Given the description of an element on the screen output the (x, y) to click on. 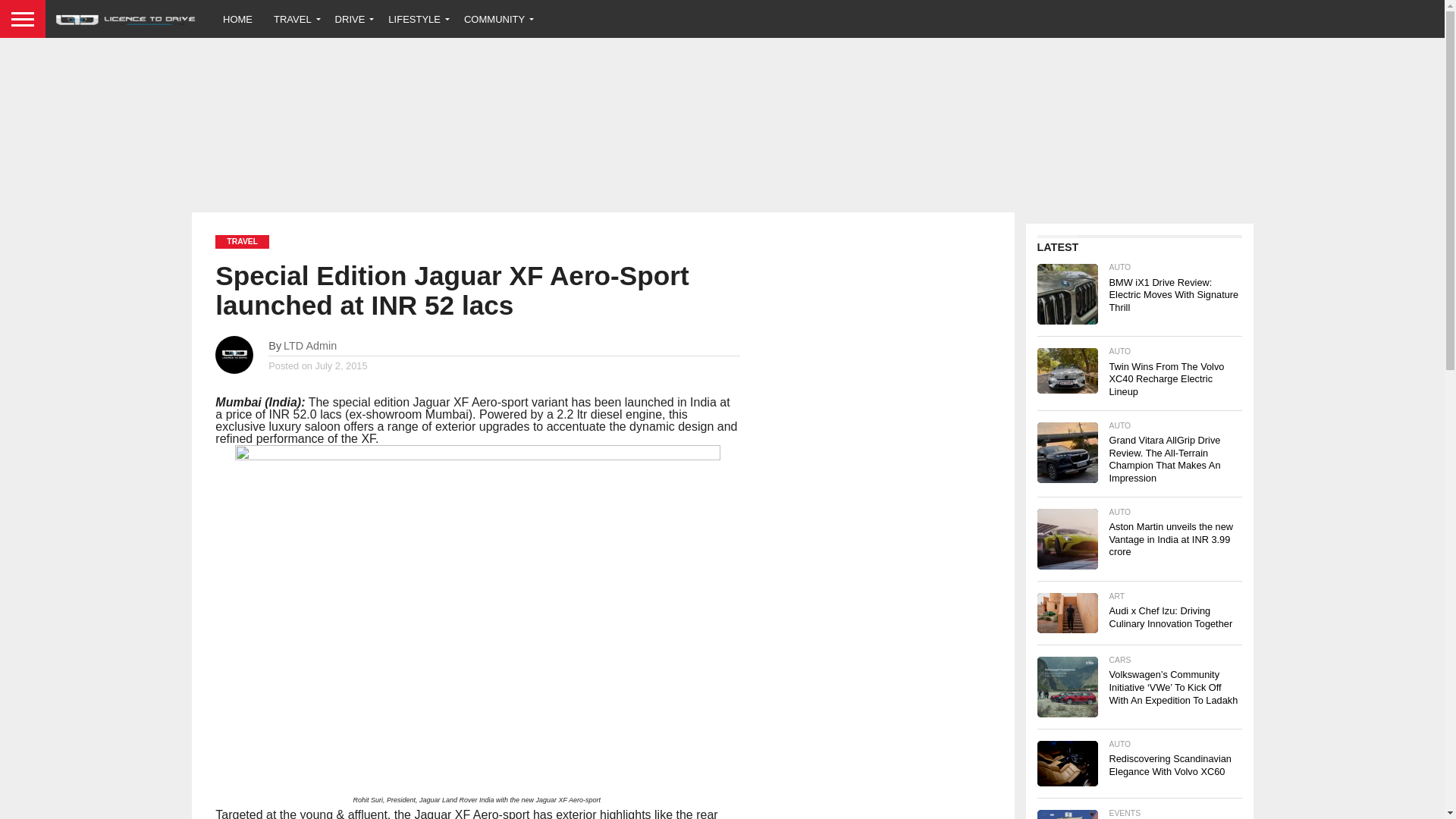
HOME (237, 18)
TRAVEL (293, 18)
Posts by LTD Admin (309, 345)
